Given the description of an element on the screen output the (x, y) to click on. 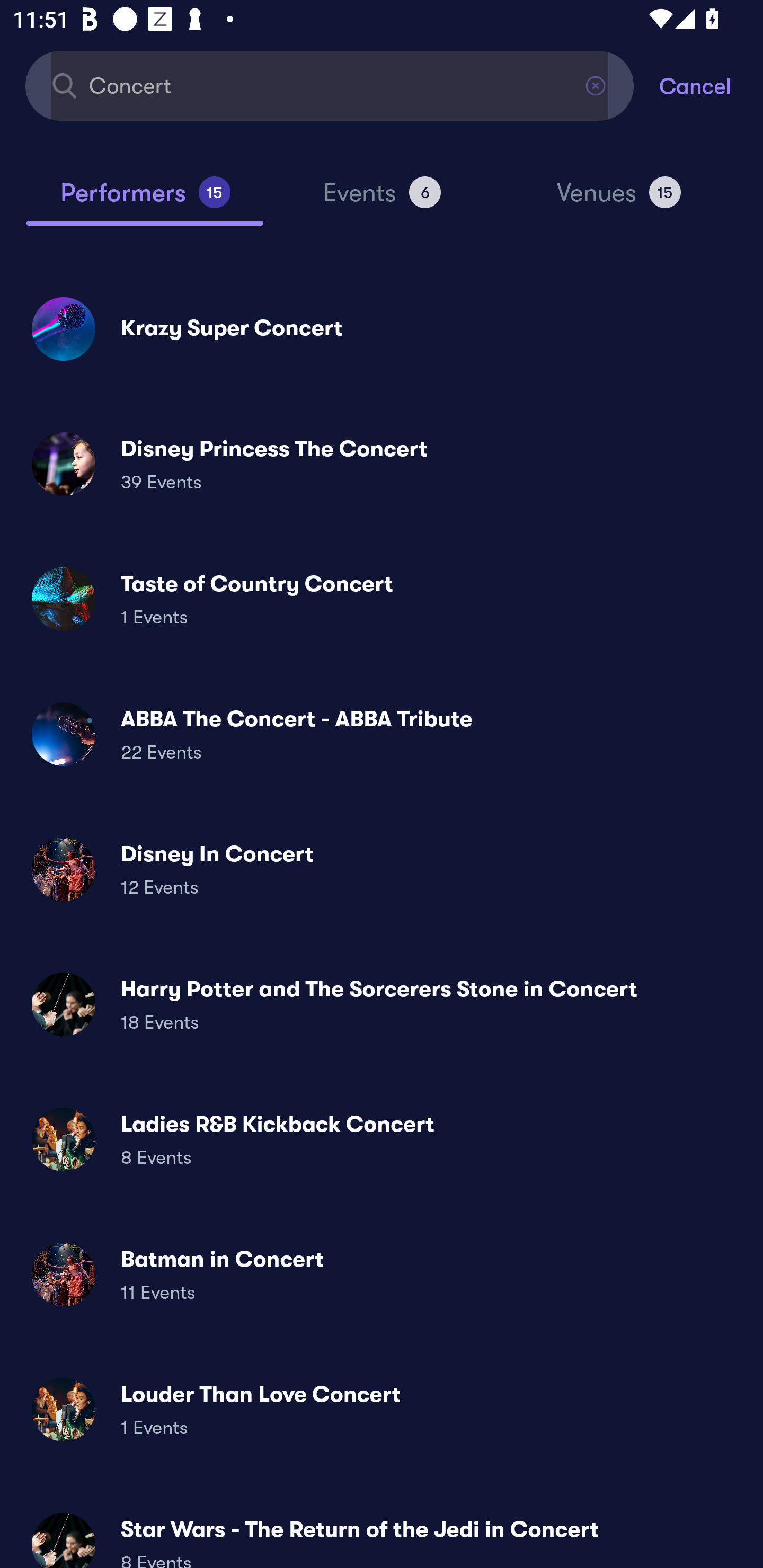
Concert Find (329, 85)
Concert Find (329, 85)
Cancel (711, 85)
Performers 15 (144, 200)
Events 6 (381, 200)
Venues 15 (618, 200)
Krazy Super Concert (381, 328)
Disney Princess The Concert 39 Events (381, 464)
Taste of Country Concert 1 Events (381, 598)
ABBA The Concert - ABBA Tribute 22 Events (381, 734)
Disney In Concert 12 Events (381, 869)
Ladies R&B Kickback Concert 8 Events (381, 1138)
Batman in Concert 11 Events (381, 1273)
Louder Than Love Concert 1 Events (381, 1409)
